Given the description of an element on the screen output the (x, y) to click on. 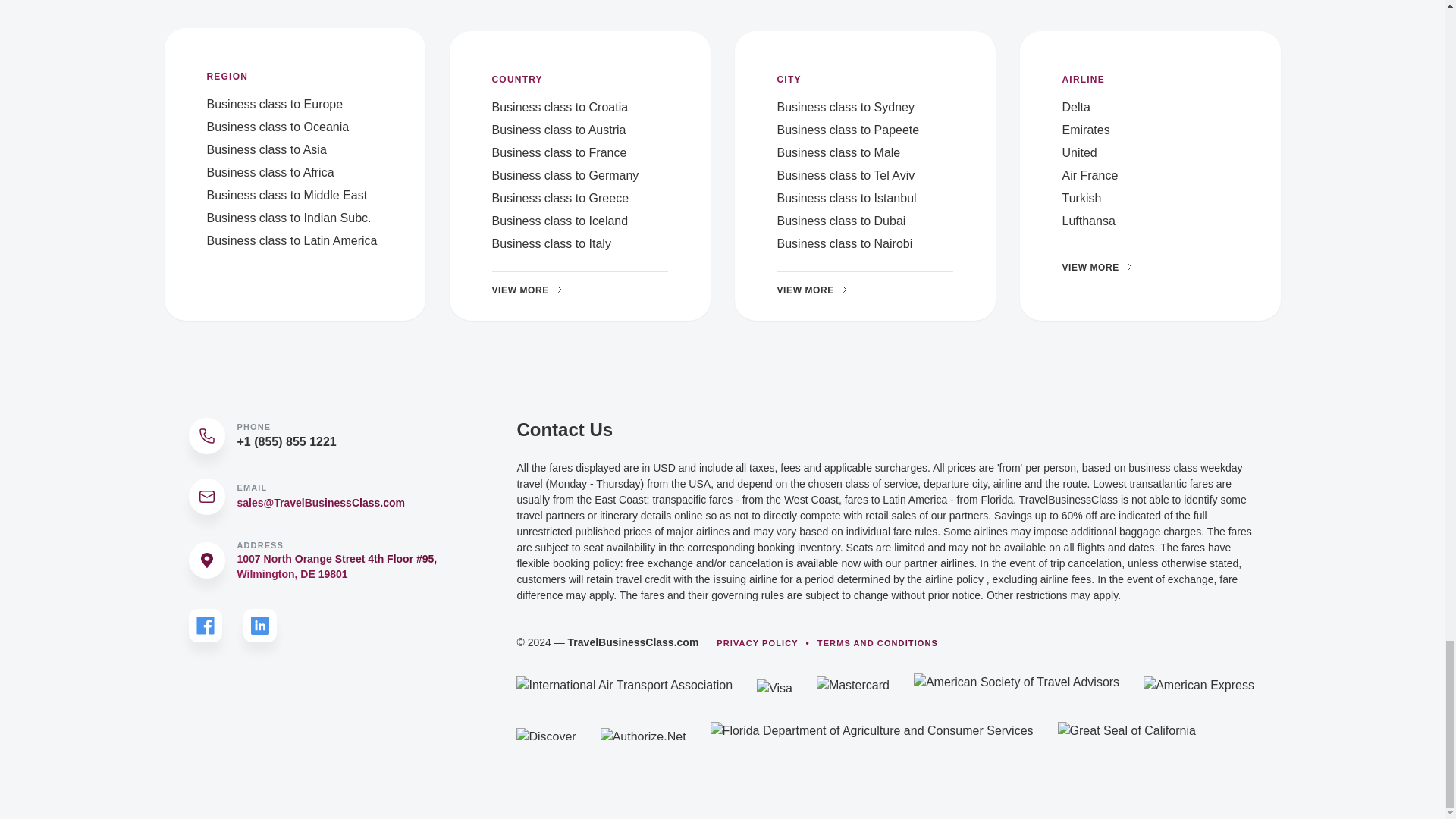
Business class flights to Africa (269, 172)
Business class flights to Europe (274, 103)
Business class flights to Asia (266, 149)
Business class flights to Oceania (277, 126)
Business class flights to Middle East (286, 195)
